Given the description of an element on the screen output the (x, y) to click on. 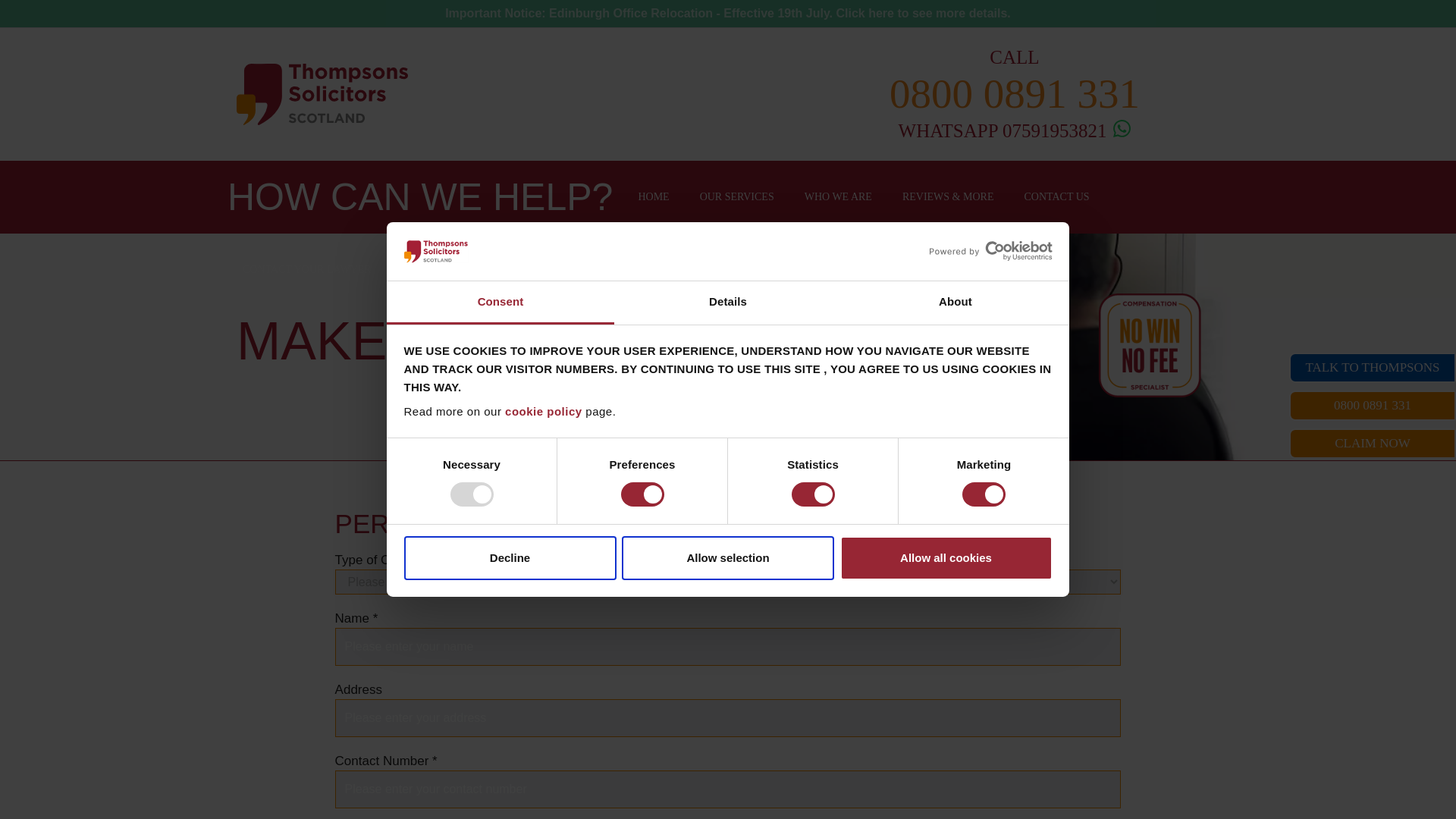
About (954, 302)
Consent (500, 302)
Details (727, 302)
cookie policy (543, 410)
